Given the description of an element on the screen output the (x, y) to click on. 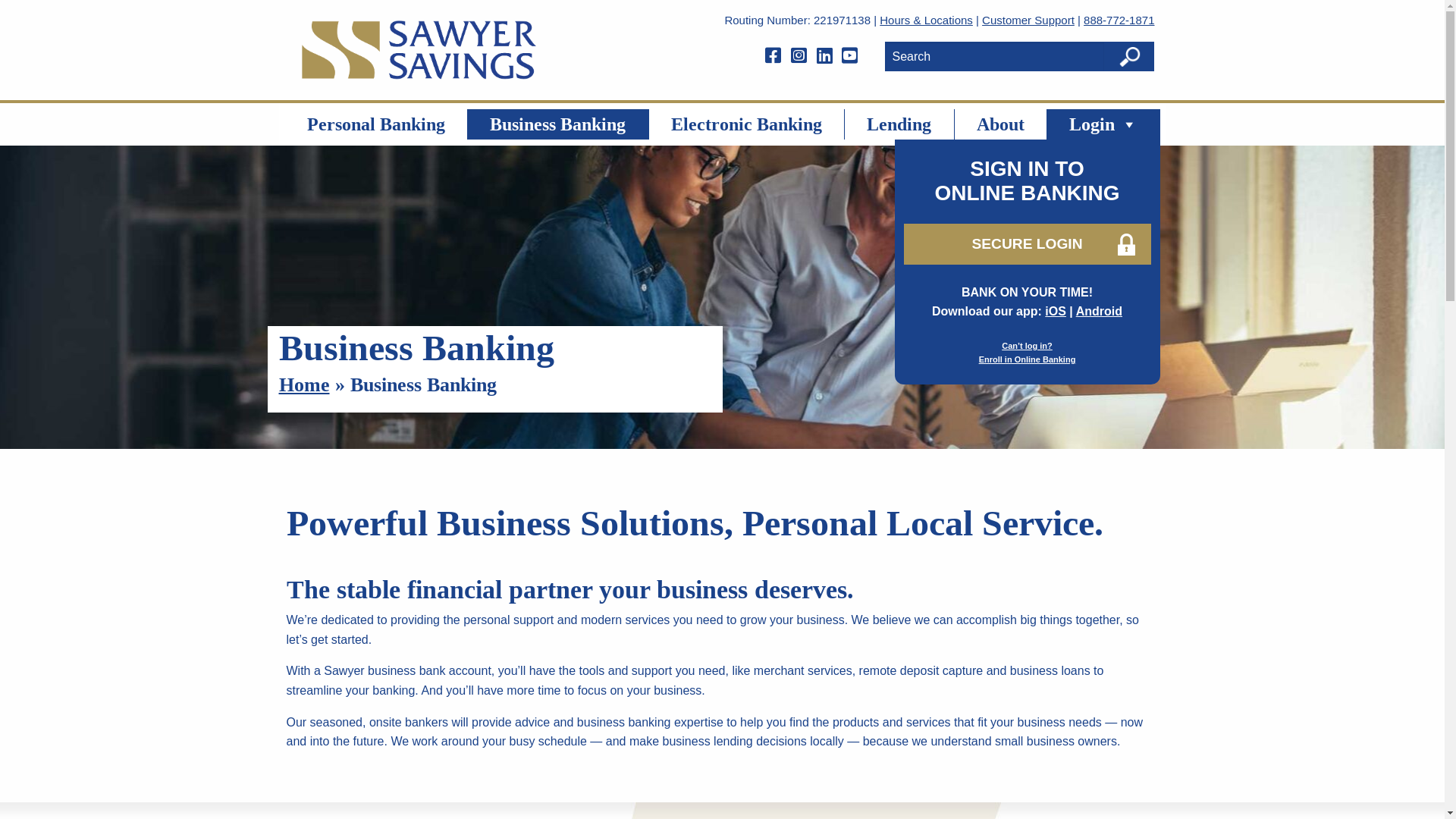
  Element type: text (826, 55)
Personal Banking Element type: text (376, 124)
Hours & Locations Element type: text (925, 19)
Enroll in Online Banking Element type: text (1027, 359)
About Element type: text (999, 124)
Android Element type: text (1099, 310)
Electronic Banking Element type: text (746, 124)
iOS Element type: text (1055, 310)
Business Banking Element type: text (557, 124)
  Element type: text (800, 55)
Home Element type: text (304, 384)
Lending Element type: text (898, 124)
Sawyer Savings Bank Element type: hover (418, 49)
888-772-1871 Element type: text (1118, 19)
  Element type: text (851, 55)
Customer Support Element type: text (1028, 19)
  Element type: text (775, 55)
Login Element type: text (1103, 124)
SECURE LOGIN Element type: text (1027, 243)
